Given the description of an element on the screen output the (x, y) to click on. 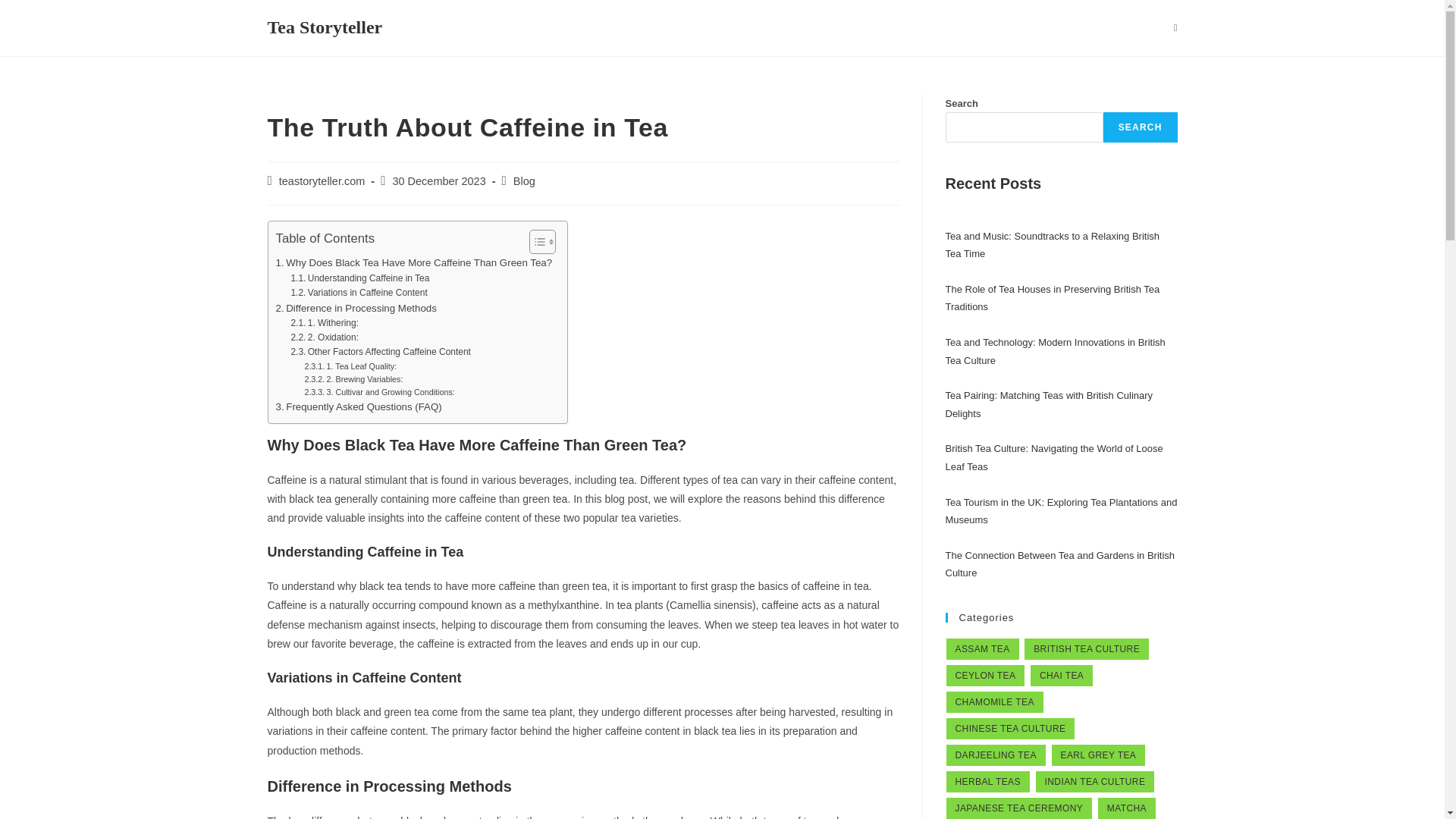
1. Withering: (323, 323)
Variations in Caffeine Content (357, 292)
Tea Storyteller (323, 26)
1. Tea Leaf Quality: (350, 366)
Why Does Black Tea Have More Caffeine Than Green Tea? (414, 262)
2. Brewing Variables: (353, 379)
Blog (524, 181)
Understanding Caffeine in Tea (359, 278)
2. Oxidation: (323, 337)
Variations in Caffeine Content (357, 292)
